Given the description of an element on the screen output the (x, y) to click on. 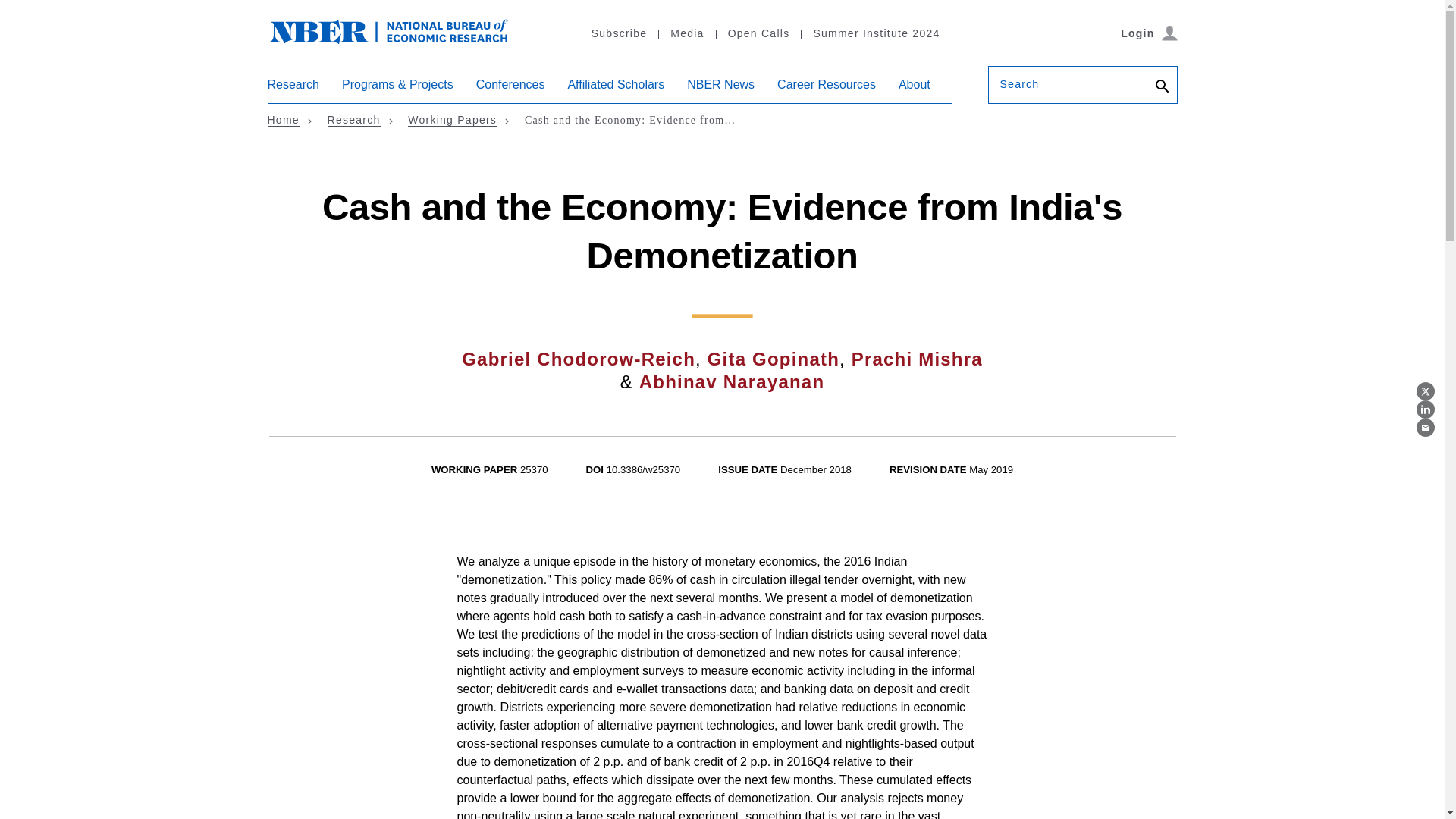
Summer Institute 2024 (875, 33)
Subscribe (619, 33)
LinkedIn (1425, 409)
NBER: National Bureau of Economic Research (387, 31)
Twitter (1425, 391)
Login (1148, 33)
Open Calls (759, 33)
Email (1425, 427)
Media (686, 33)
NBER: National Bureau of Economic Research (400, 39)
Research (292, 90)
